Given the description of an element on the screen output the (x, y) to click on. 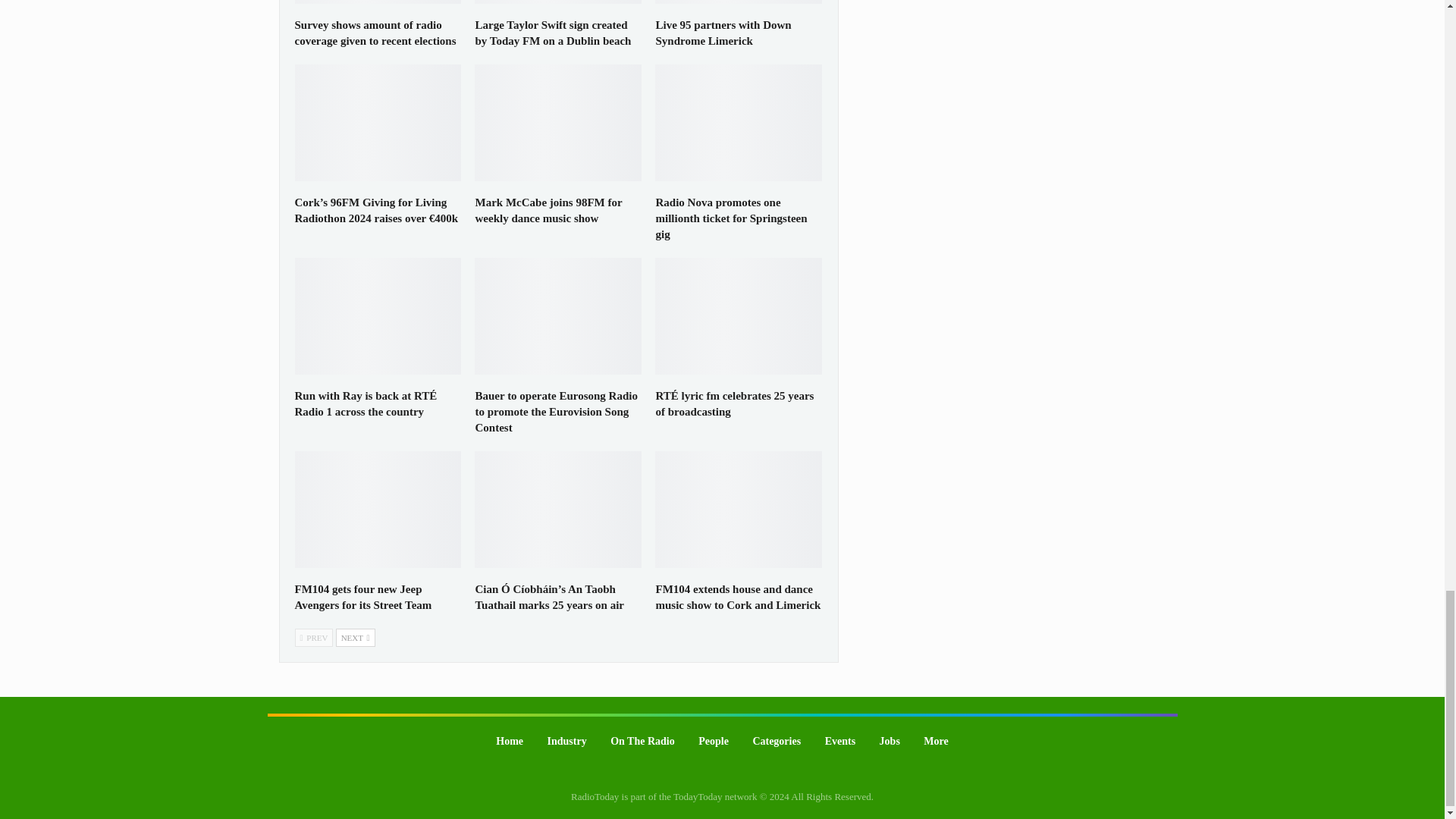
Radio Nova promotes one millionth ticket for Springsteen gig (730, 218)
Live 95 partners with Down Syndrome Limerick (738, 2)
Live 95 partners with Down Syndrome Limerick (722, 32)
Mark McCabe joins 98FM for weekly dance music show (547, 210)
Radio Nova promotes one millionth ticket for Springsteen gig (738, 122)
Mark McCabe joins 98FM for weekly dance music show (558, 122)
